Given the description of an element on the screen output the (x, y) to click on. 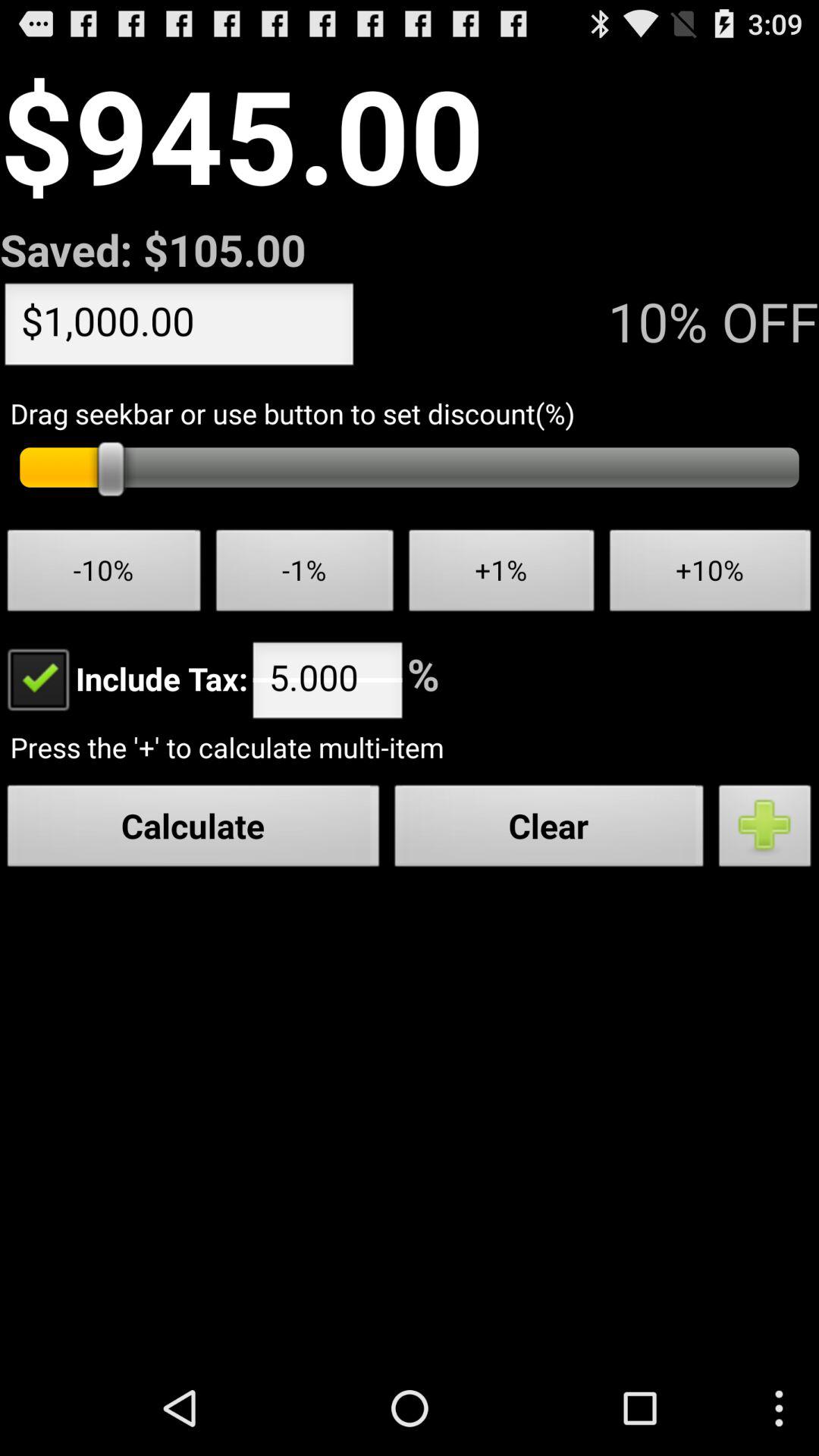
jump to clear (549, 830)
